Given the description of an element on the screen output the (x, y) to click on. 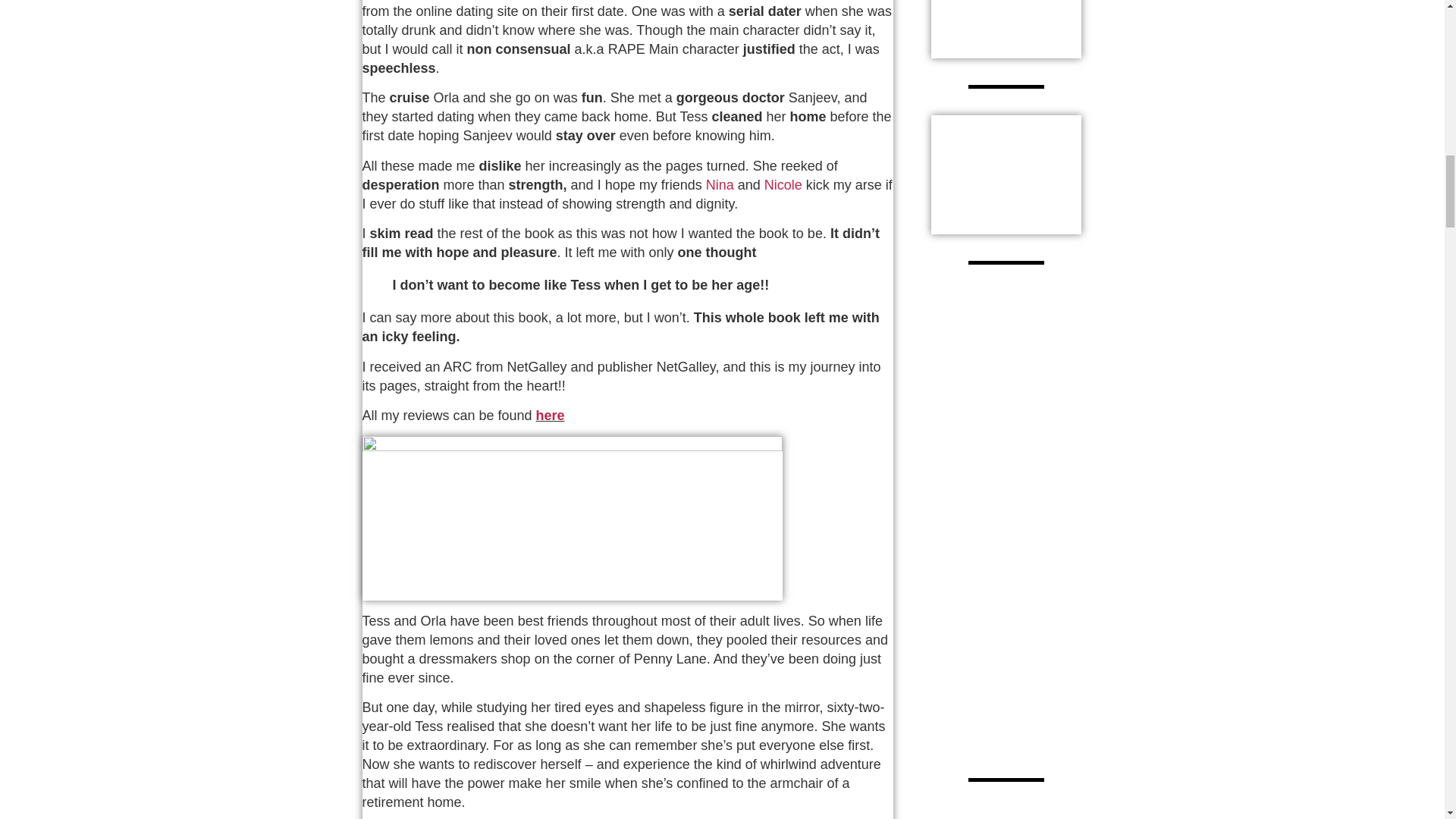
Nina (719, 184)
Nicole (783, 184)
here (549, 415)
